Given the description of an element on the screen output the (x, y) to click on. 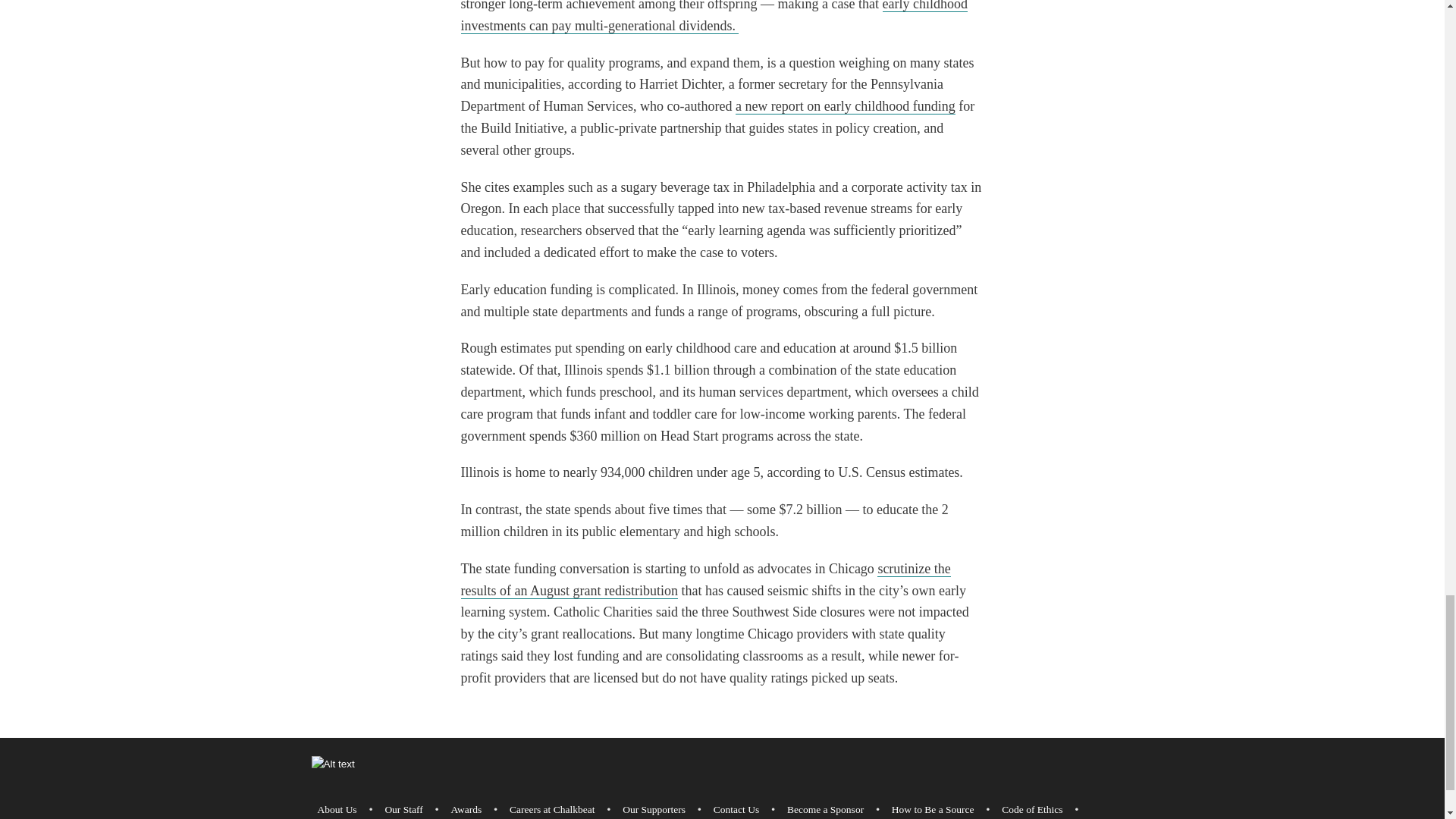
How to Be a Source (932, 807)
Contact Us (736, 807)
About Us (336, 807)
Awards (465, 807)
Our Staff (403, 807)
Code of Ethics (1031, 807)
scrutinize the results of an August grant redistribution (705, 579)
a new report on early childhood funding (845, 106)
Become a Sponsor (824, 807)
